Given the description of an element on the screen output the (x, y) to click on. 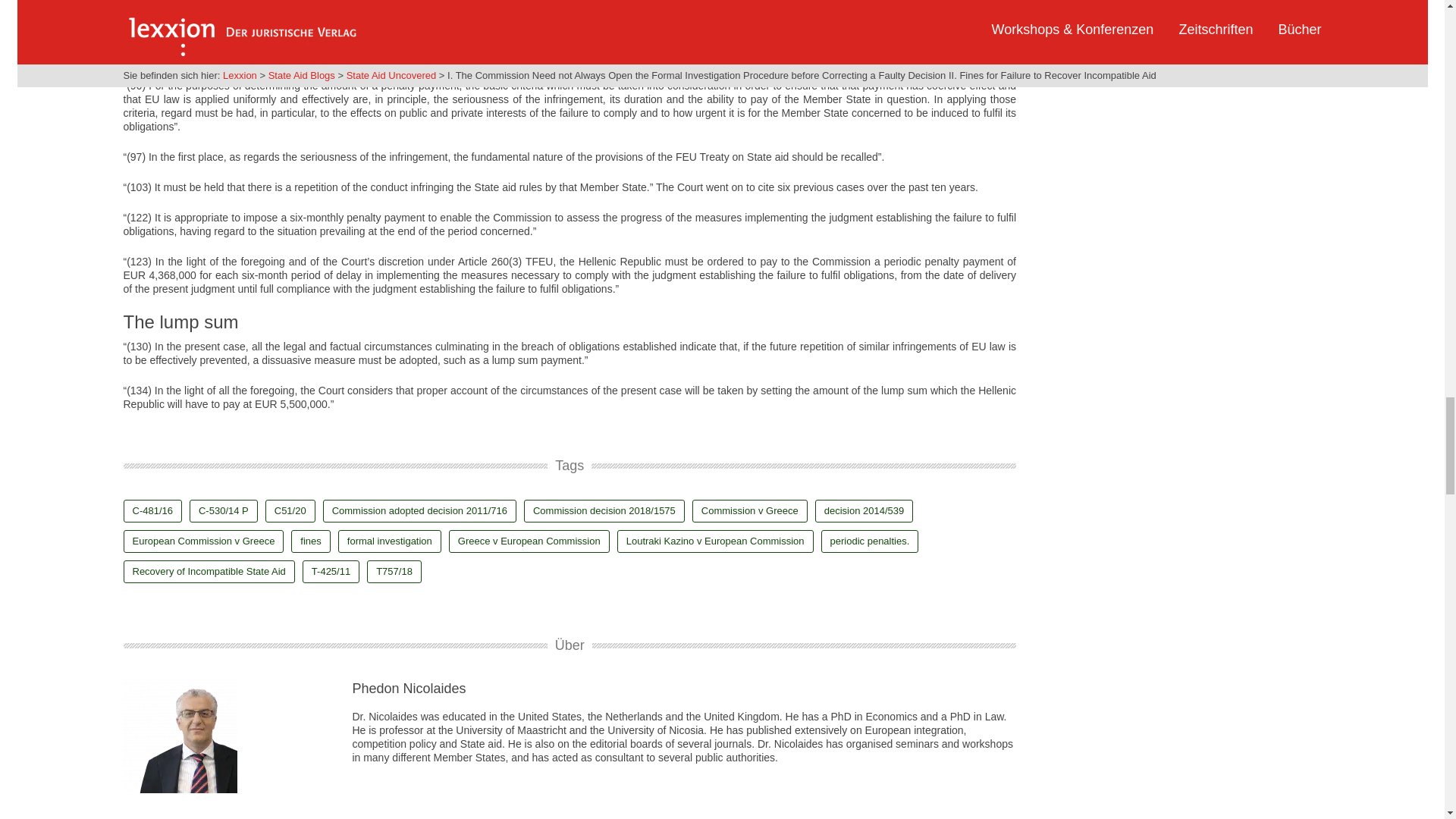
Greece v European Commission (529, 540)
formal investigation (389, 540)
Loutraki Kazino v European Commission (715, 540)
fines (310, 540)
European Commission v Greece (202, 540)
periodic penalties. (869, 540)
Commission v Greece (750, 510)
Recovery of Incompatible State Aid (208, 571)
